Given the description of an element on the screen output the (x, y) to click on. 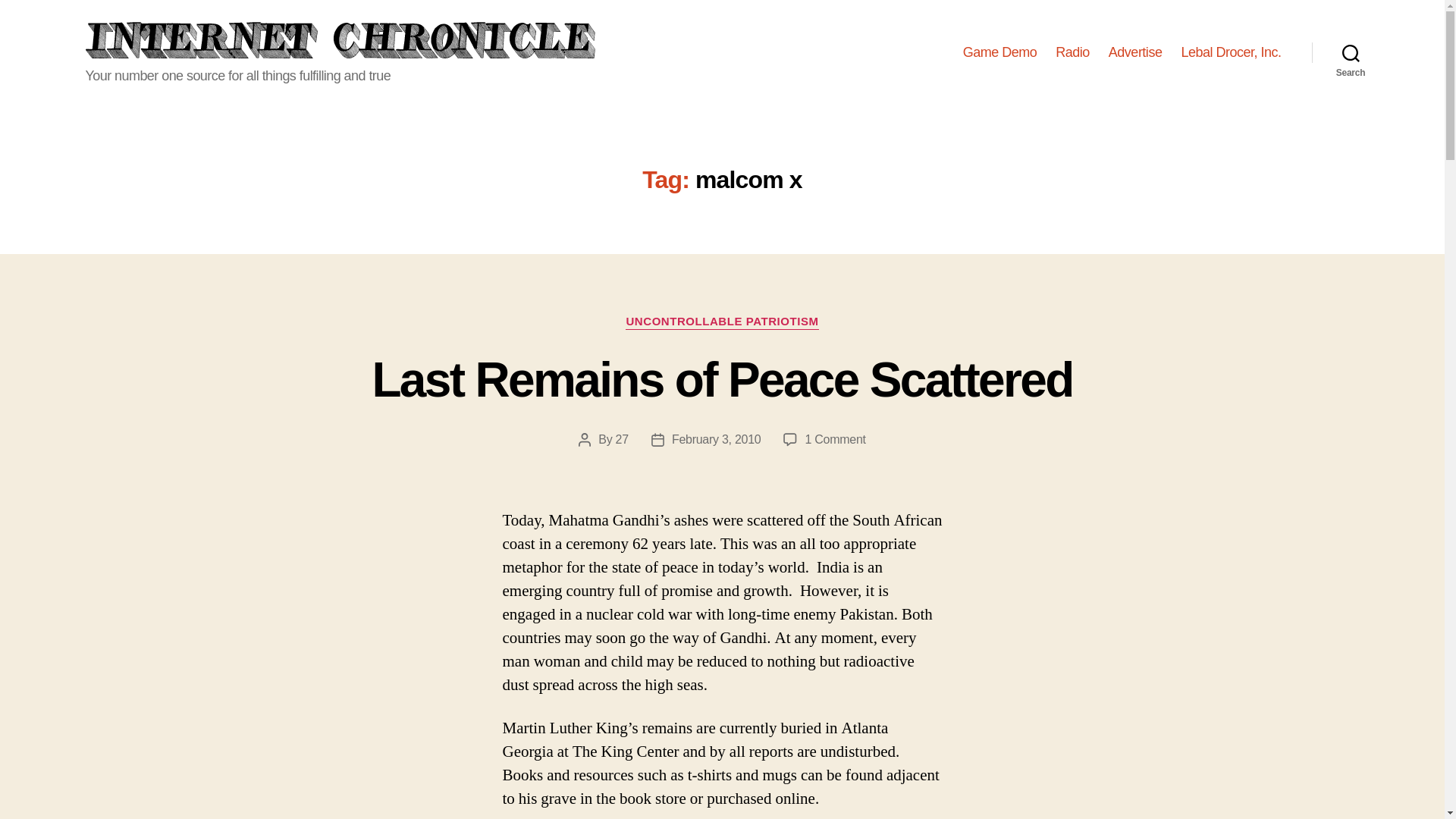
27 (621, 439)
UNCONTROLLABLE PATRIOTISM (722, 322)
Last Remains of Peace Scattered (721, 379)
Advertise (1134, 53)
February 3, 2010 (716, 439)
Lebal Drocer, Inc. (1230, 53)
Radio (1072, 53)
Game Demo (999, 53)
Search (1350, 52)
